Given the description of an element on the screen output the (x, y) to click on. 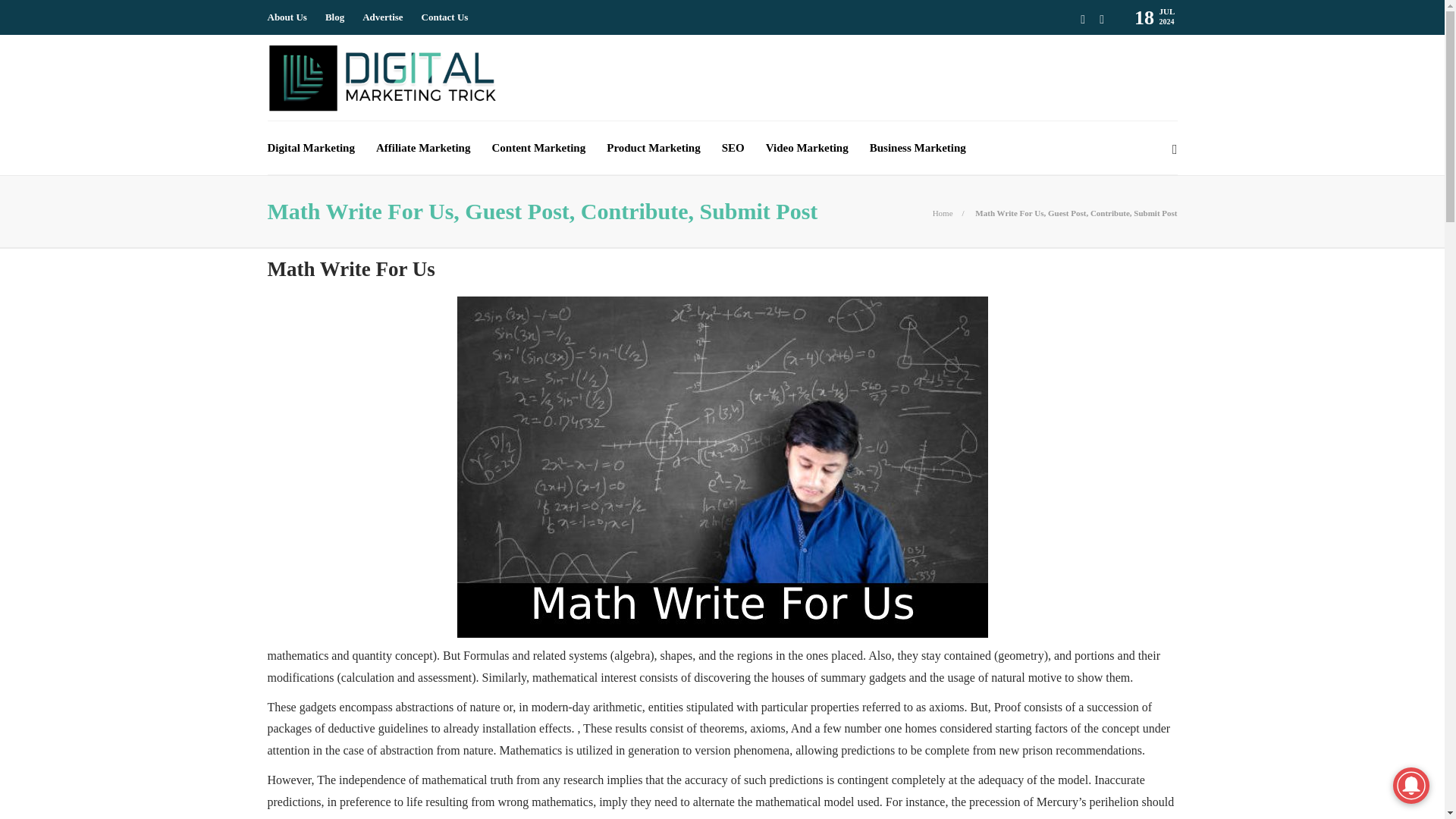
systems (588, 655)
Business Marketing (917, 147)
Digital Marketing (309, 147)
Home (943, 212)
About Us (285, 17)
Content Marketing (538, 147)
Advertise (382, 17)
Blog (333, 17)
Math Write For Us, Guest Post, Contribute, Submit Post (1075, 212)
Home (943, 212)
SEO (733, 147)
Product Marketing (653, 147)
Contact Us (445, 17)
Affiliate Marketing (422, 147)
Video Marketing (806, 147)
